Given the description of an element on the screen output the (x, y) to click on. 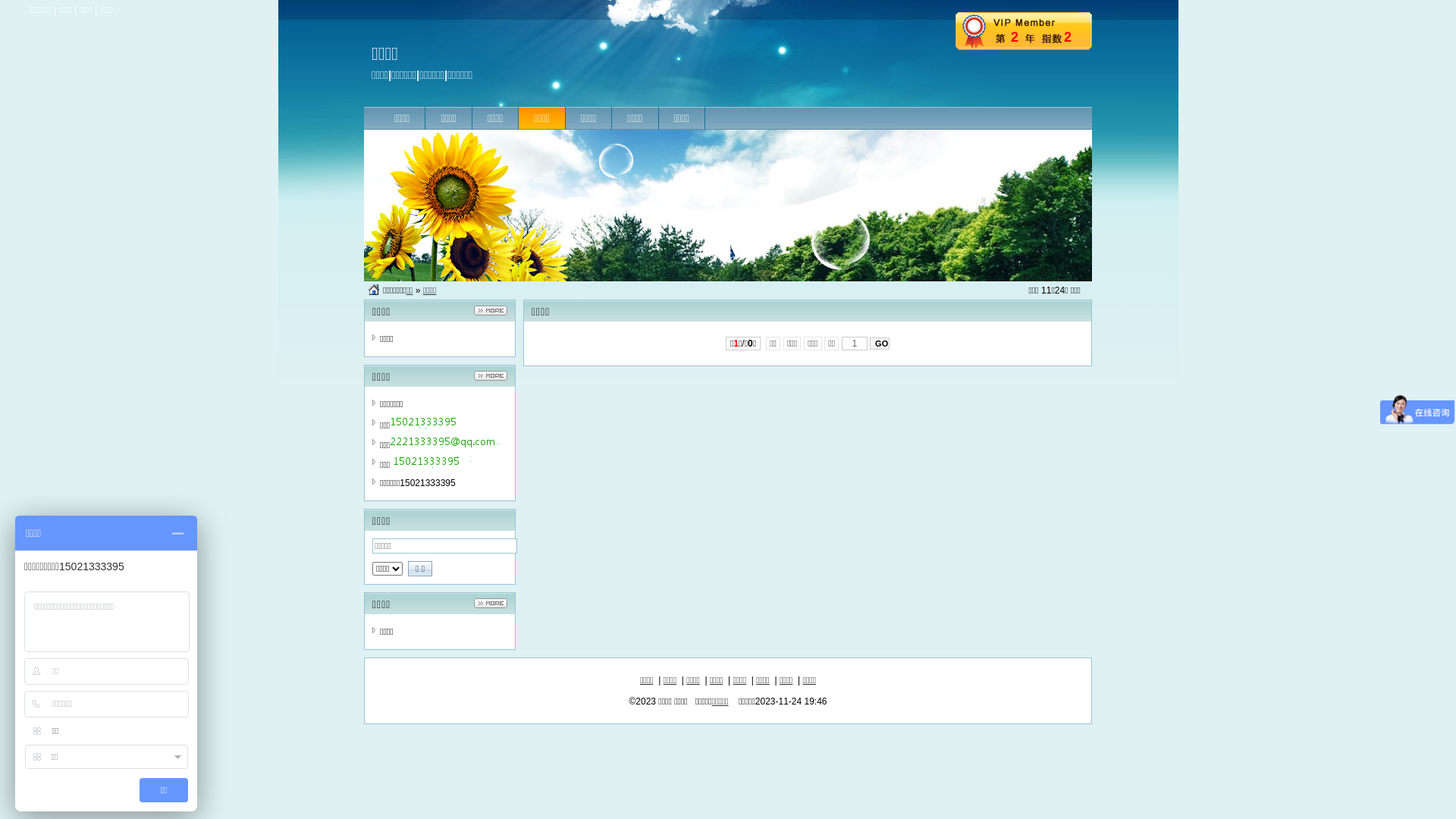
GO Element type: text (879, 343)
